Given the description of an element on the screen output the (x, y) to click on. 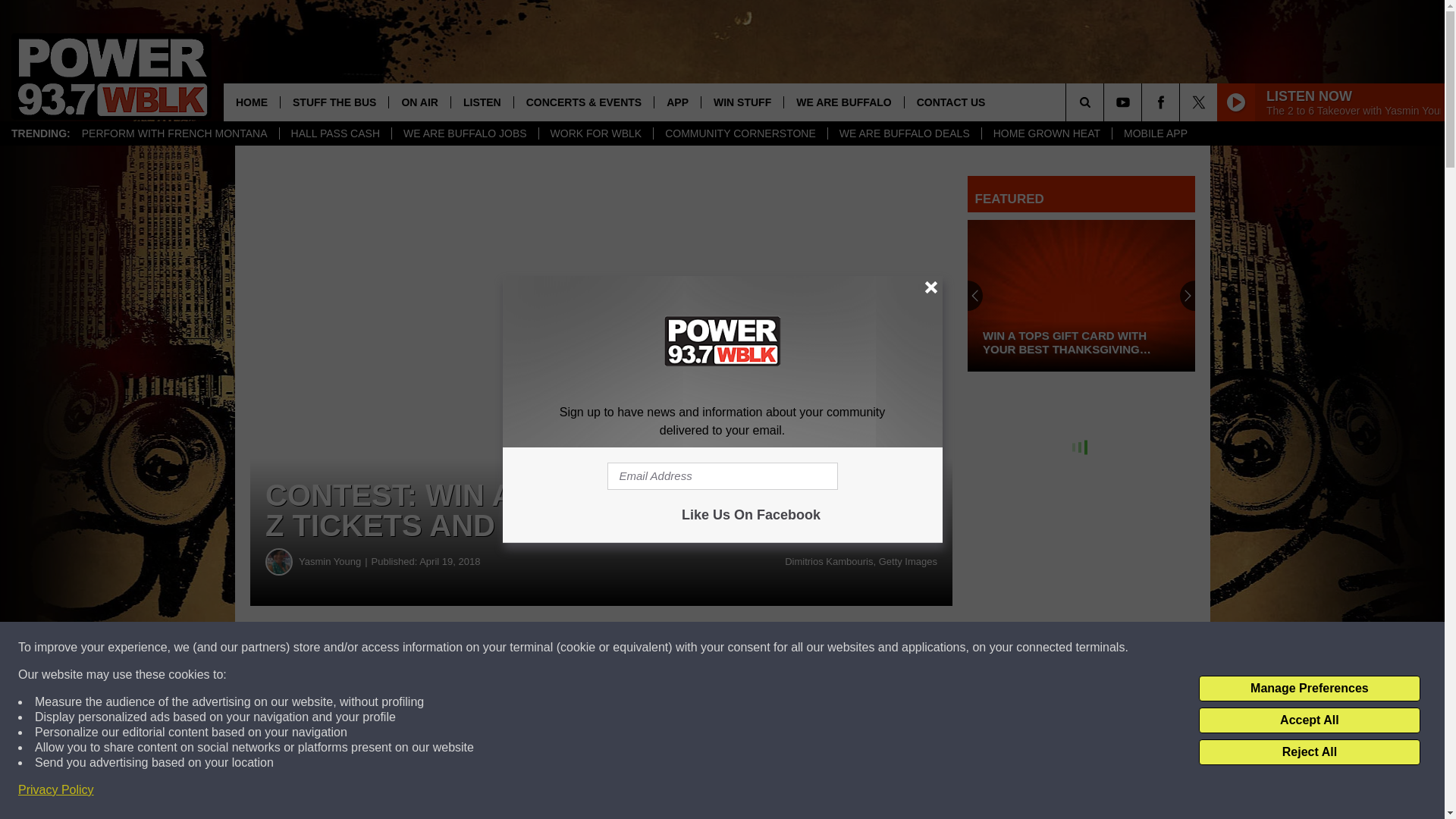
Share on Facebook (460, 647)
PERFORM WITH FRENCH MONTANA (174, 133)
APP (676, 102)
Reject All (1309, 751)
HOME GROWN HEAT (1046, 133)
HOME (251, 102)
SEARCH (1106, 102)
WE ARE BUFFALO DEALS (904, 133)
Privacy Policy (55, 789)
WIN STUFF (741, 102)
WE ARE BUFFALO JOBS (464, 133)
MOBILE APP (1155, 133)
Share on Twitter (741, 647)
ON AIR (418, 102)
LISTEN (481, 102)
